Given the description of an element on the screen output the (x, y) to click on. 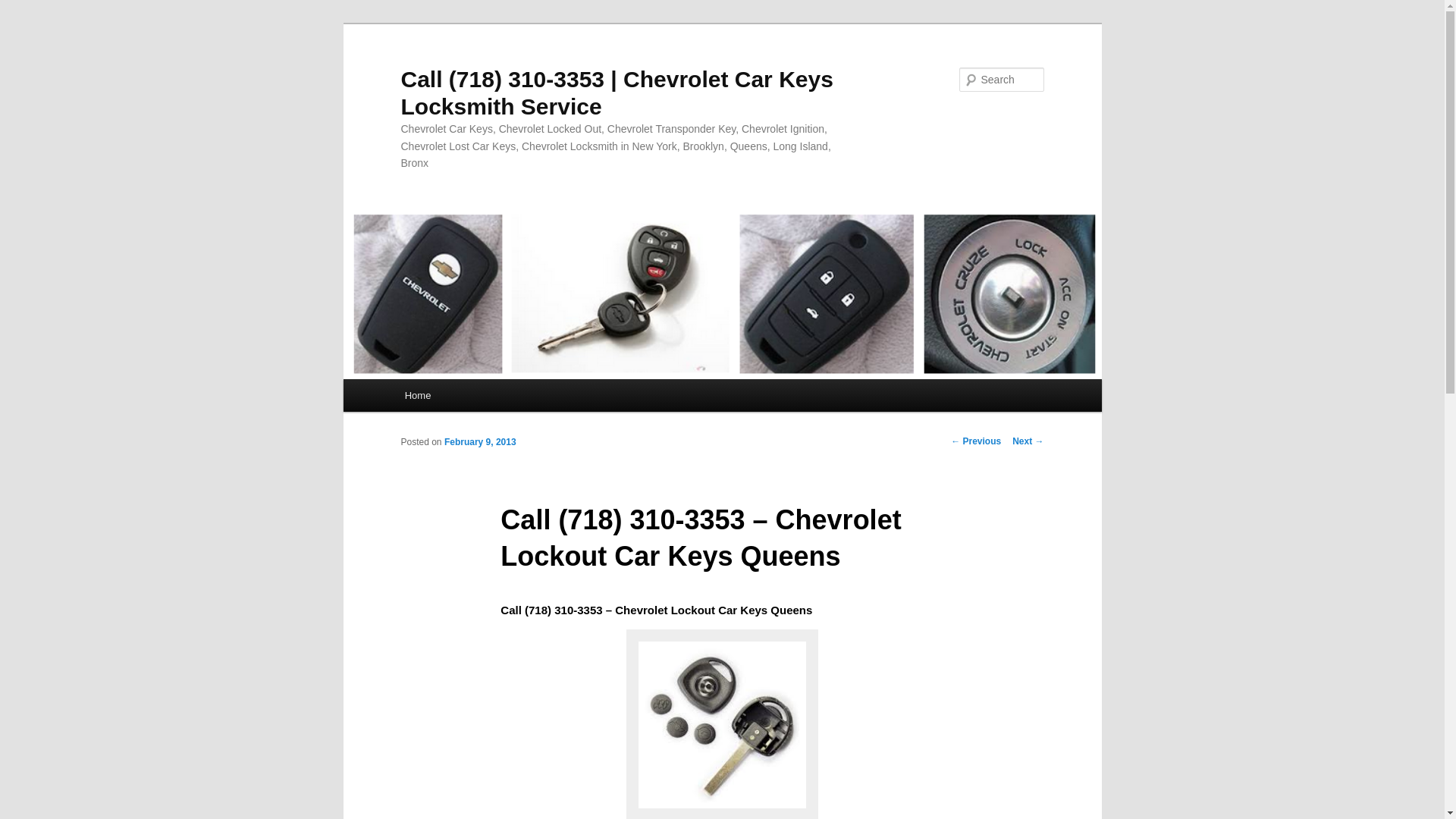
2:17 pm (480, 441)
Chevrolet Lockout Car keys Queens (721, 725)
February 9, 2013 (480, 441)
Home (417, 395)
Search (24, 8)
